Given the description of an element on the screen output the (x, y) to click on. 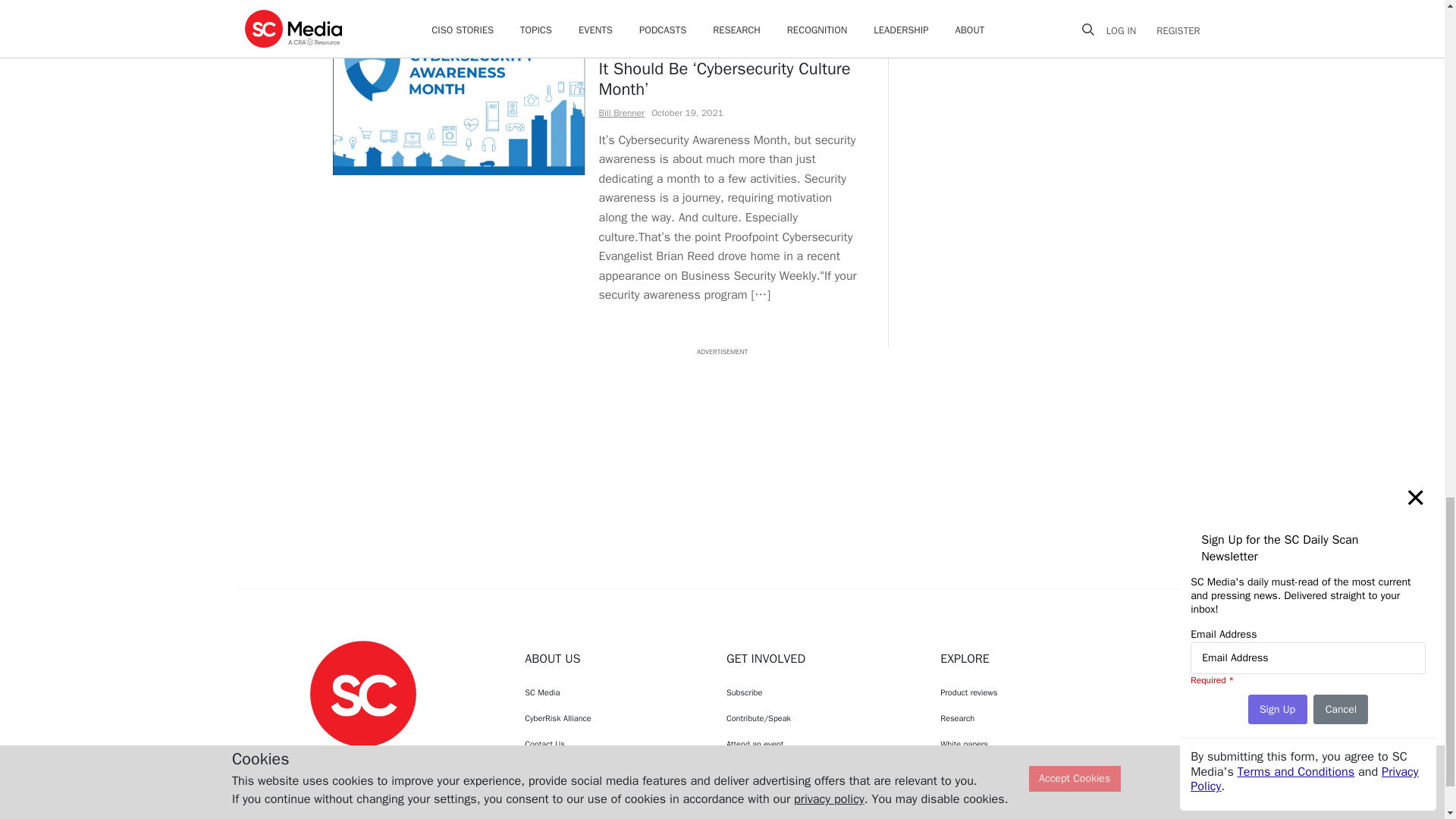
SCMagazine on Facebook (324, 760)
SCMagazine on LinkedIn (401, 760)
CONTENT (623, 38)
CyberRisk Alliance (612, 718)
Bill Brenner (621, 112)
Careers (612, 769)
SC Media (612, 692)
SCMagazine on Twitter (362, 760)
Contact Us (612, 743)
SC Media (362, 693)
